Given the description of an element on the screen output the (x, y) to click on. 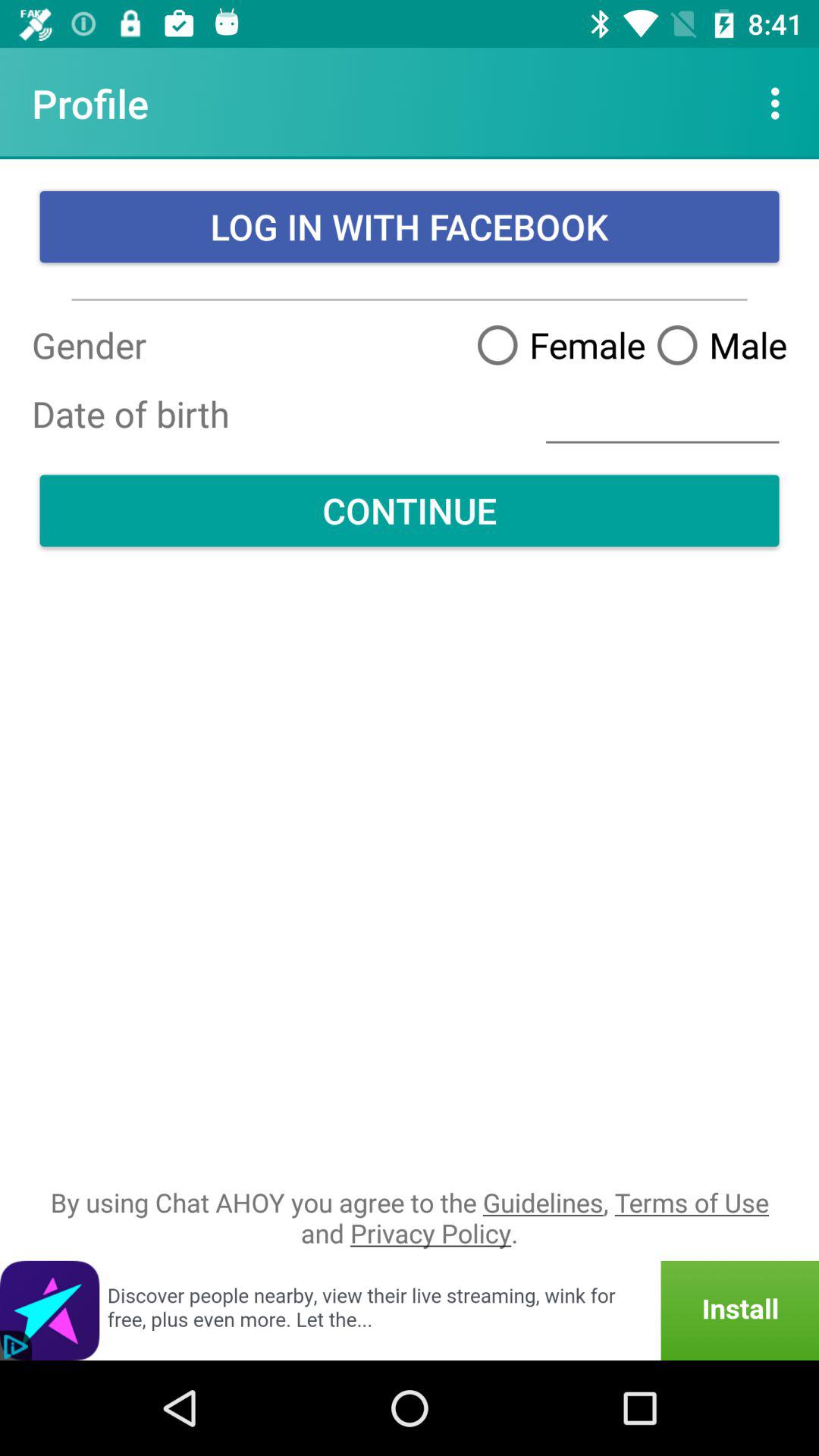
swipe until the continue icon (409, 510)
